Given the description of an element on the screen output the (x, y) to click on. 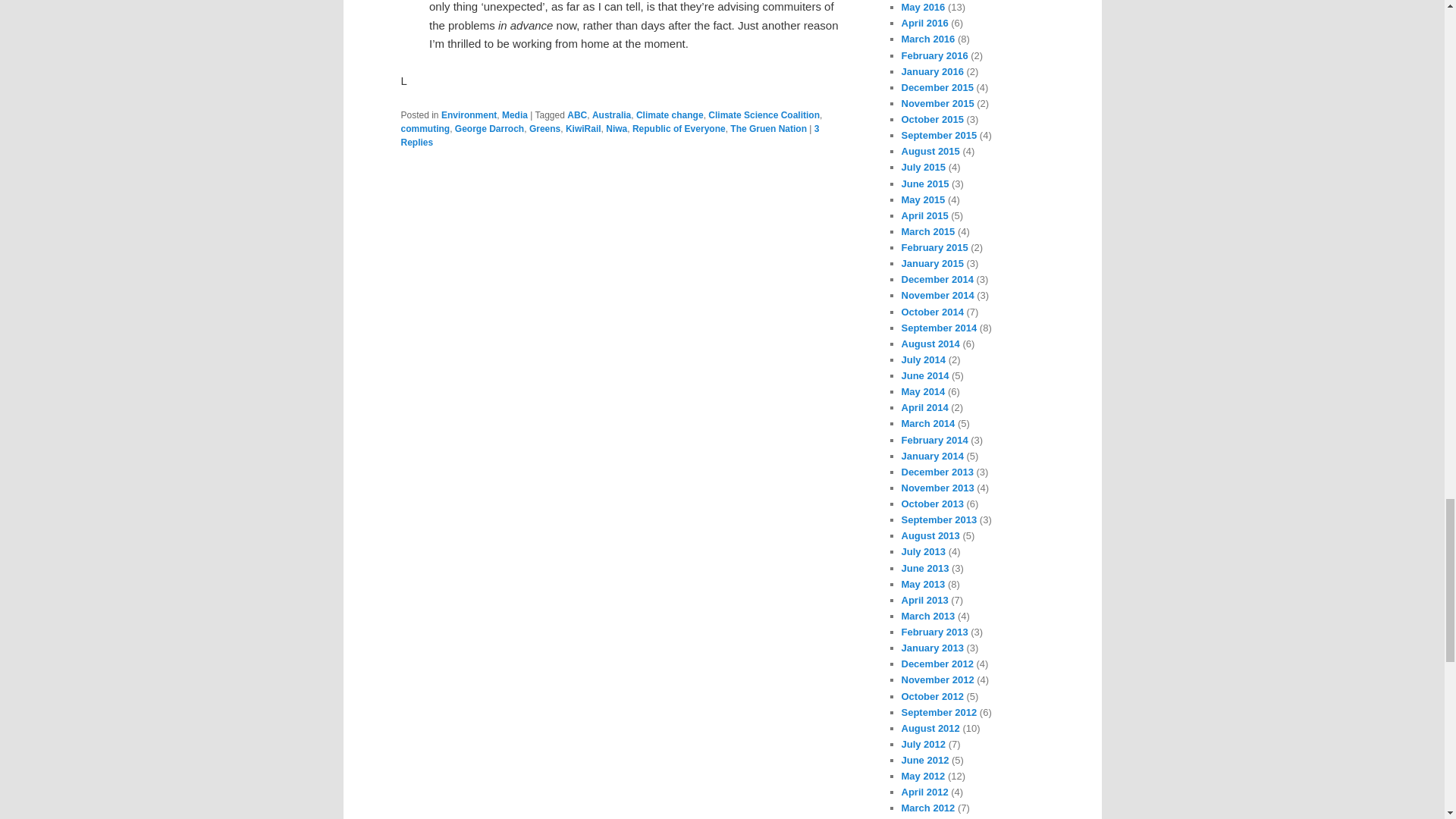
Climate change (669, 114)
Environment (468, 114)
Australia (611, 114)
Climate Science Coalition (763, 114)
Media (514, 114)
ABC (576, 114)
